Given the description of an element on the screen output the (x, y) to click on. 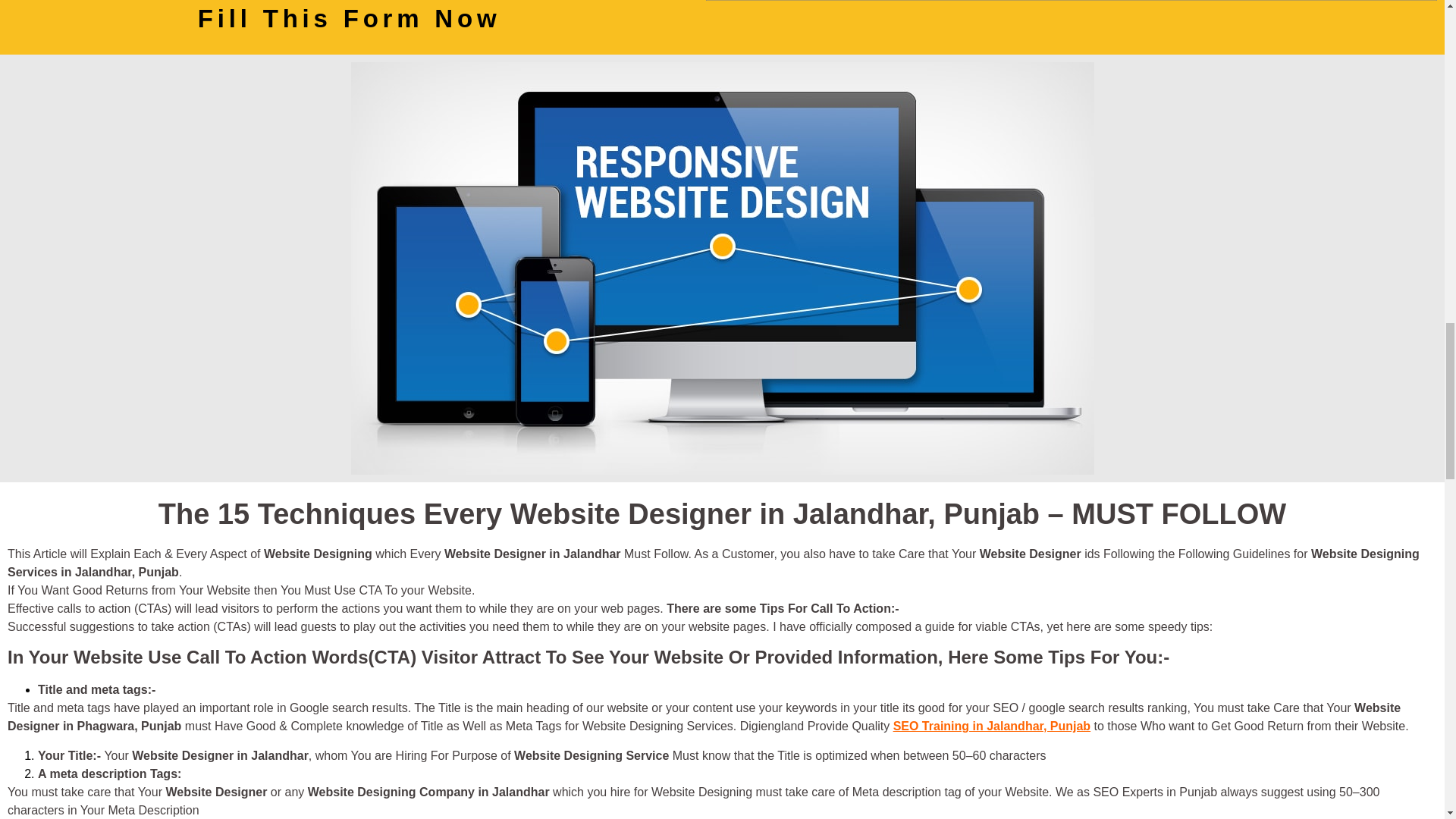
SEO Training in Jalandhar, Punjab (991, 725)
